Given the description of an element on the screen output the (x, y) to click on. 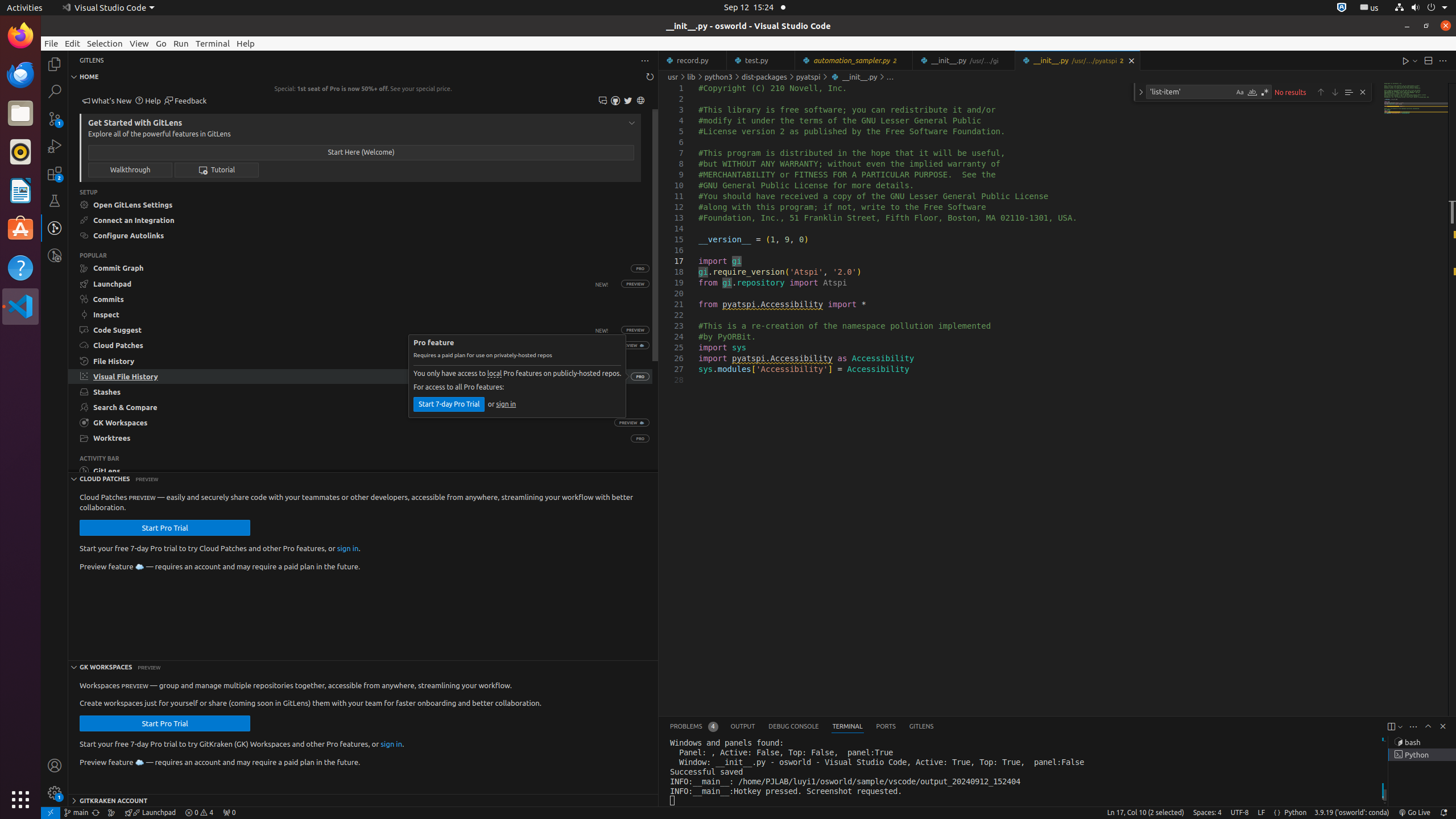
Match Case (Alt+C) Element type: check-box (1239, 91)
GitLens Website Element type: link (640, 100)
sign in Element type: push-button (347, 548)
Open Code Suggest walkthrough Element type: link (343, 329)
Open Welcome Element type: link (361, 152)
